Given the description of an element on the screen output the (x, y) to click on. 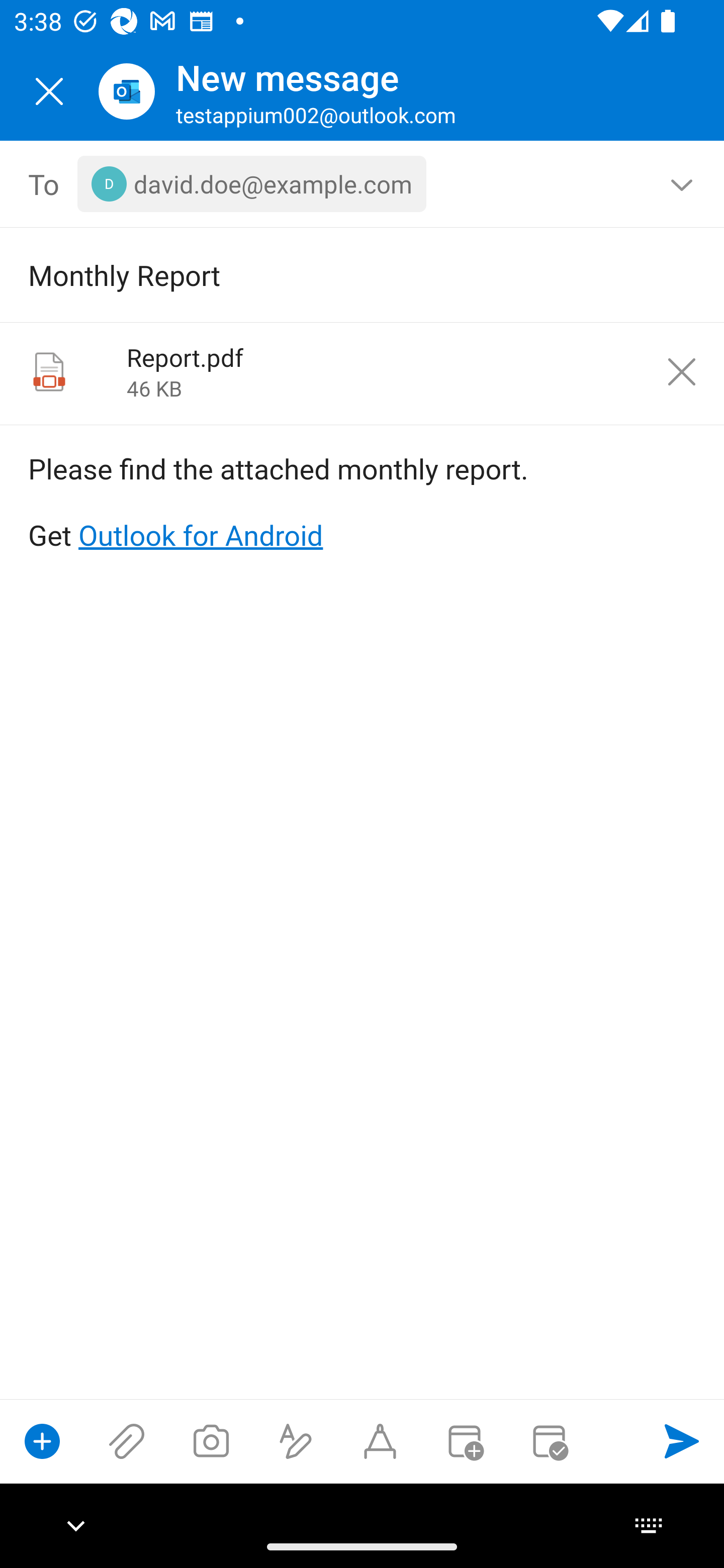
Close (49, 91)
To, 1 recipient <david.doe@example.com> (362, 184)
Monthly Report (333, 274)
Report.pdf 46 KB Remove attachment Report.pdf (362, 373)
Remove attachment Report.pdf (681, 372)
Show compose options (42, 1440)
Attach files (126, 1440)
Take a photo (210, 1440)
Show formatting options (295, 1440)
Start Ink compose (380, 1440)
Convert to event (464, 1440)
Send availability (548, 1440)
Send (681, 1440)
